Given the description of an element on the screen output the (x, y) to click on. 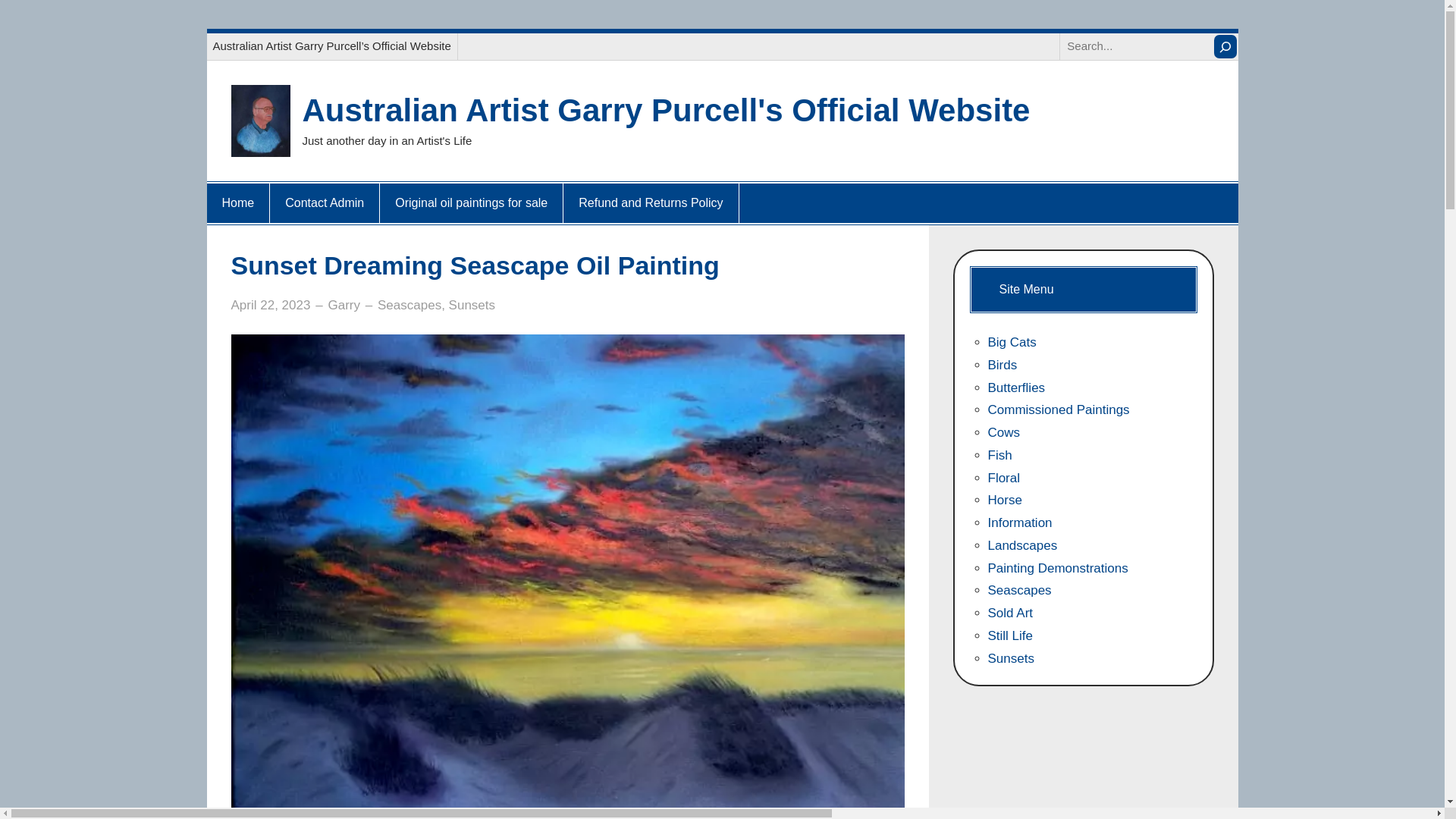
Fish (999, 454)
Original oil paintings for sale (470, 202)
Birds (1001, 364)
Cows (1003, 432)
Australian Artist Garry Purcell's Official Website (665, 109)
Contact Admin (324, 202)
Refund and Returns Policy (650, 202)
Painting Demonstrations (1056, 568)
Sold Art (1009, 612)
Seascapes (1019, 590)
Home (237, 202)
Still Life (1009, 635)
Sunsets (1010, 658)
Seascapes (409, 305)
Butterflies (1016, 387)
